Given the description of an element on the screen output the (x, y) to click on. 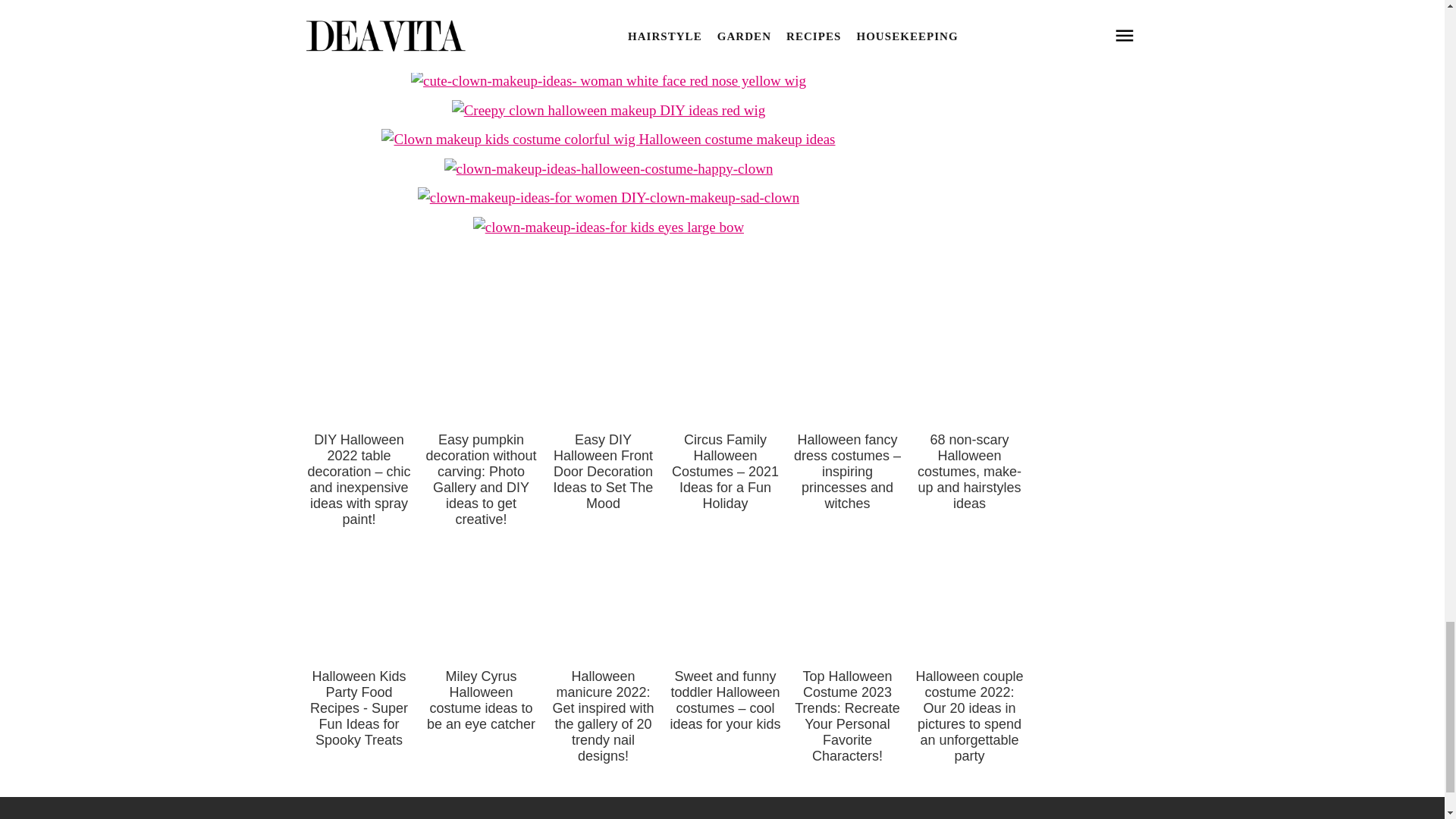
Evil-clown-makeup-ideas-Halloween-makeup (607, 22)
